Given the description of an element on the screen output the (x, y) to click on. 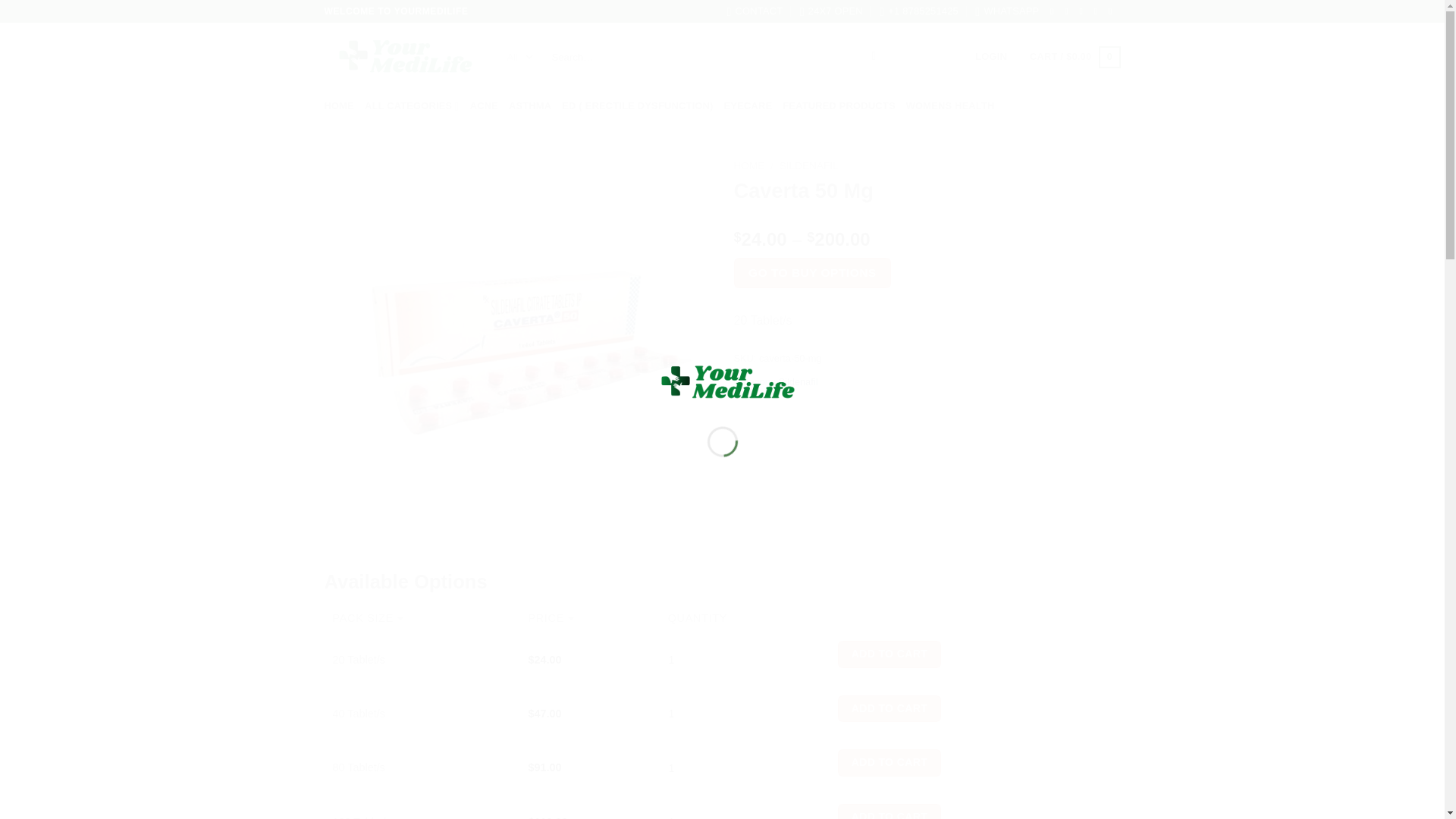
LOGIN (991, 56)
Yourmedilife - Medicine Delivery Online Pharmacy (400, 56)
1 (687, 714)
24x7 Open  (831, 11)
1 (687, 767)
WHATSAPP (1007, 11)
Login (991, 56)
Search (873, 57)
HOME (338, 105)
1 (687, 659)
